Given the description of an element on the screen output the (x, y) to click on. 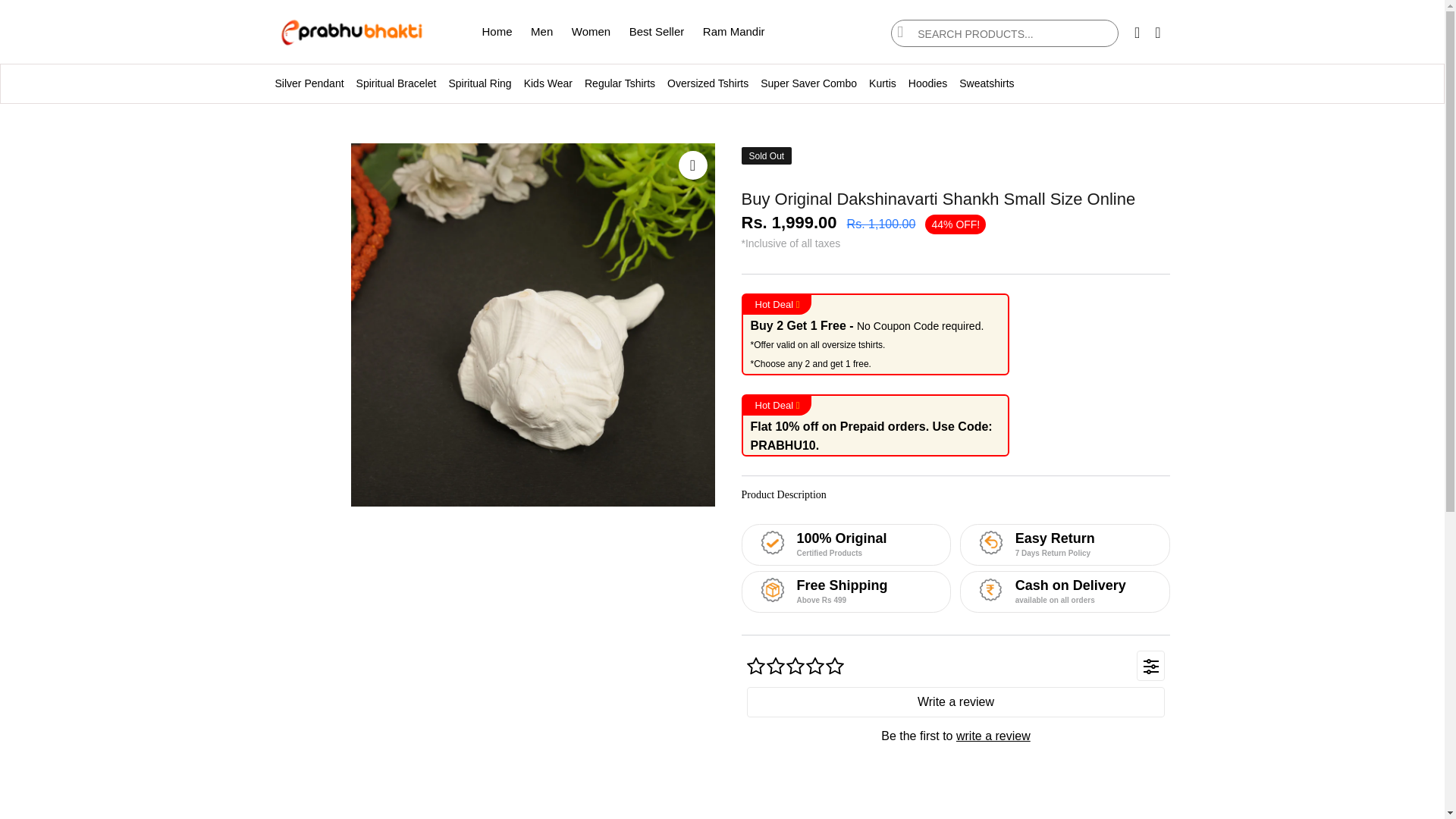
Super Saver Combo (808, 83)
Best Seller (656, 31)
Kids Wear (548, 83)
Oversized Tshirts (707, 83)
Spiritual Ring (479, 83)
Women (591, 31)
Ram Mandir (734, 31)
Home (496, 31)
Spiritual Bracelet (396, 83)
Regular Tshirts (619, 83)
Men (542, 31)
Product reviews widget (955, 716)
Silver Pendant (306, 83)
